Given the description of an element on the screen output the (x, y) to click on. 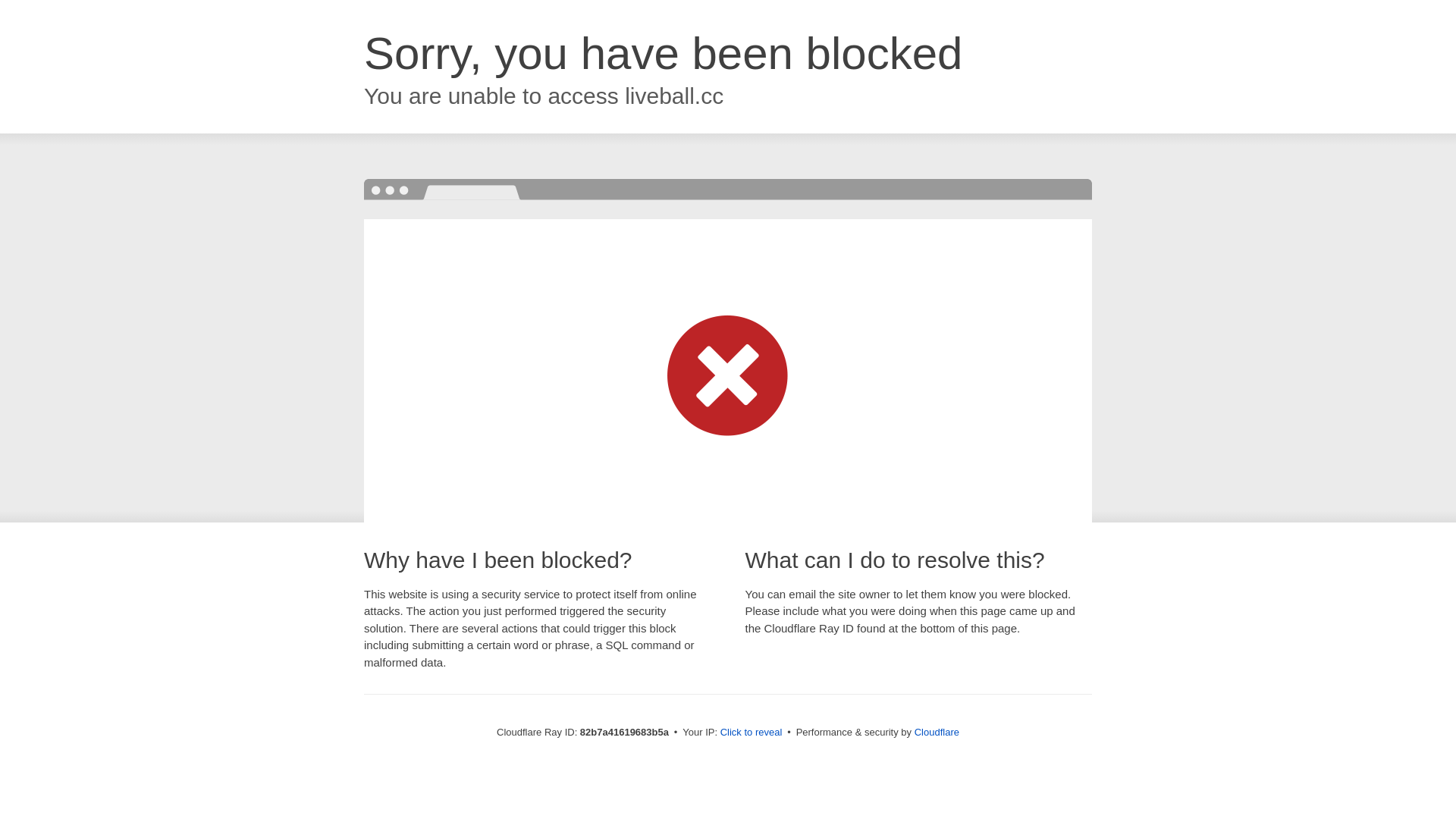
Click to reveal Element type: text (751, 732)
Cloudflare Element type: text (936, 731)
